Given the description of an element on the screen output the (x, y) to click on. 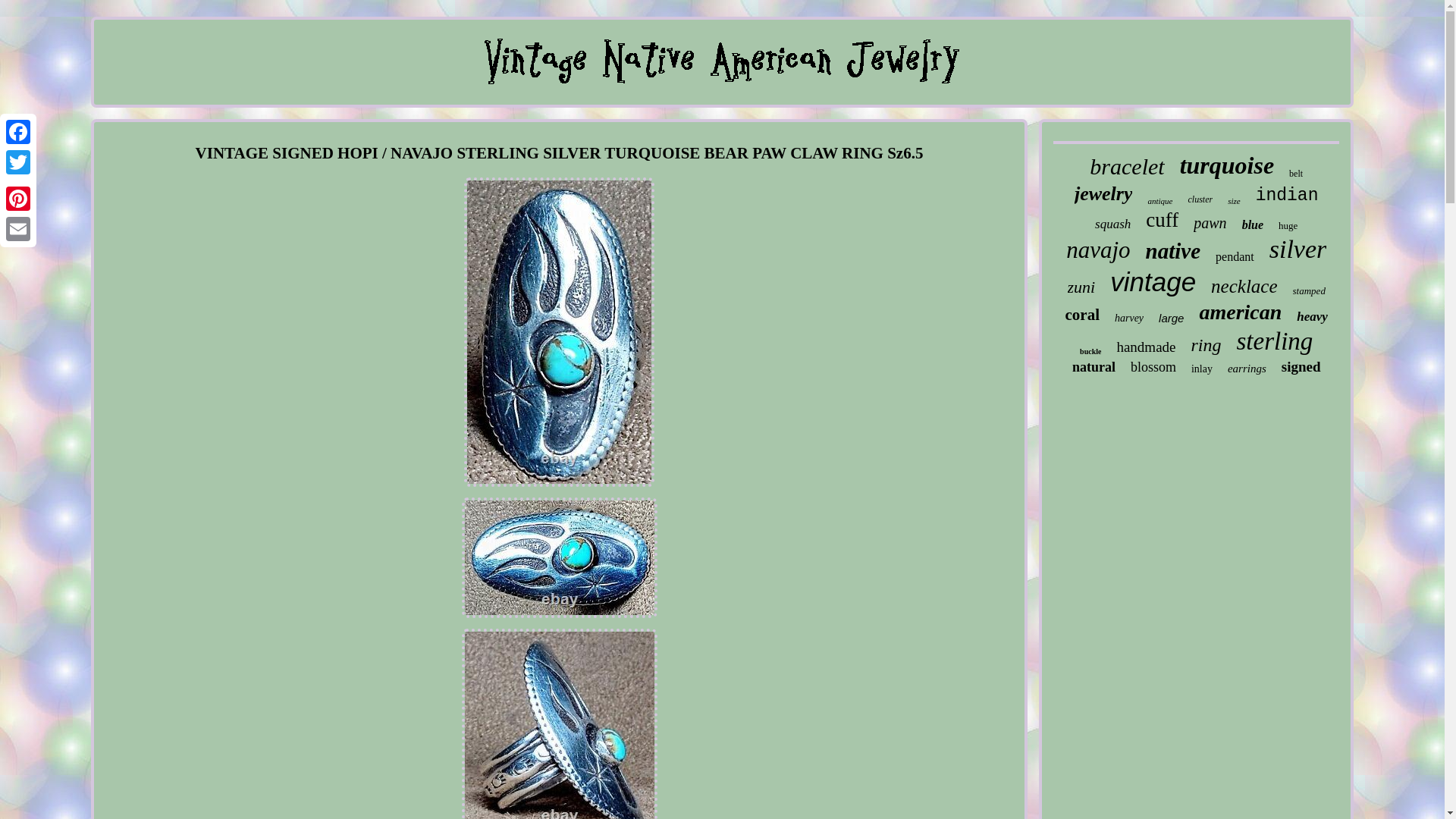
silver (1297, 249)
huge (1287, 225)
large (1170, 318)
pendant (1234, 256)
pawn (1209, 222)
size (1233, 200)
Twitter (17, 162)
stamped (1308, 291)
american (1239, 312)
jewelry (1103, 193)
